Given the description of an element on the screen output the (x, y) to click on. 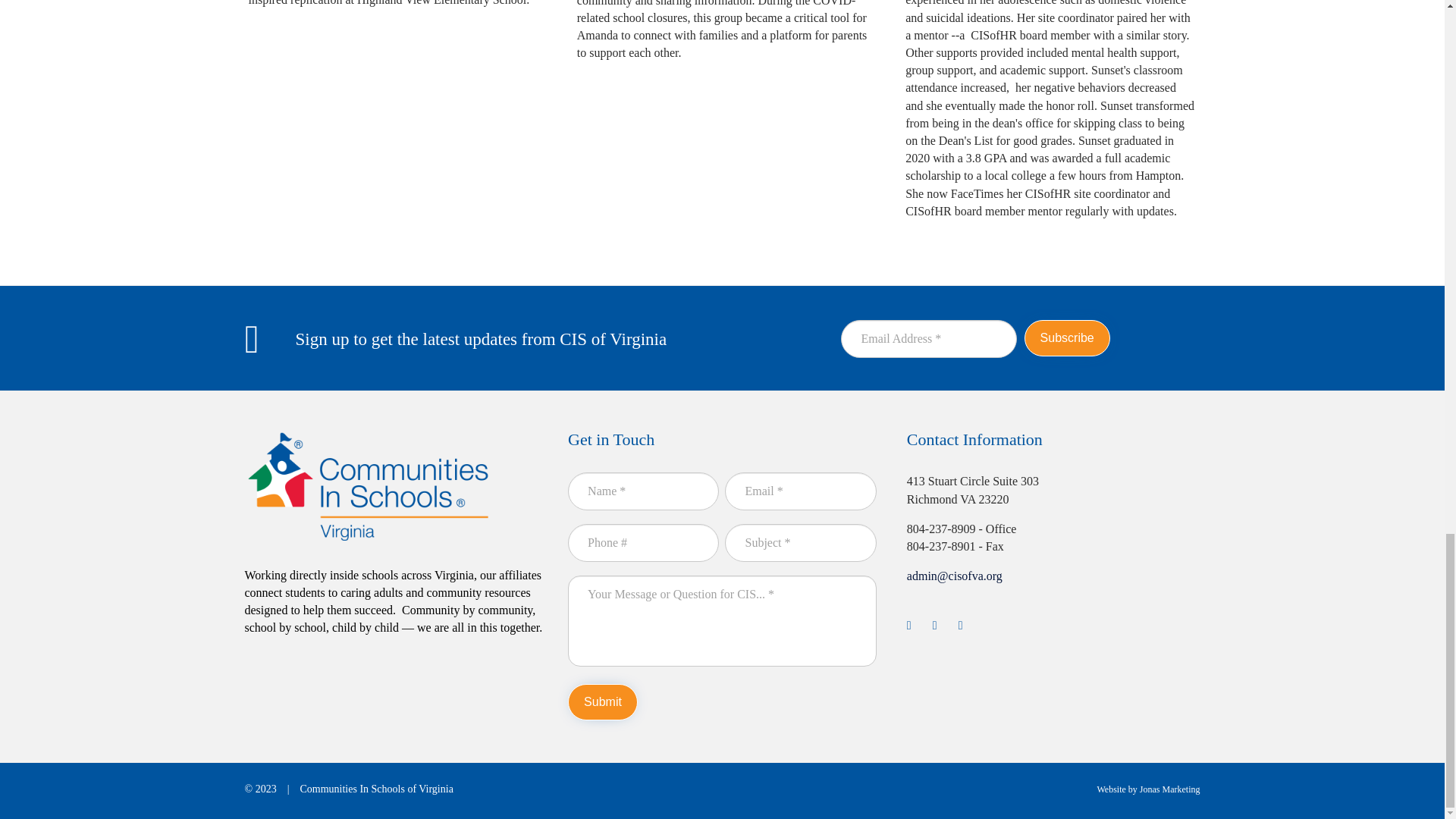
804-237-8909 (941, 529)
Submit (602, 701)
Subscribe (1067, 338)
CIS of Virginia (368, 486)
